Given the description of an element on the screen output the (x, y) to click on. 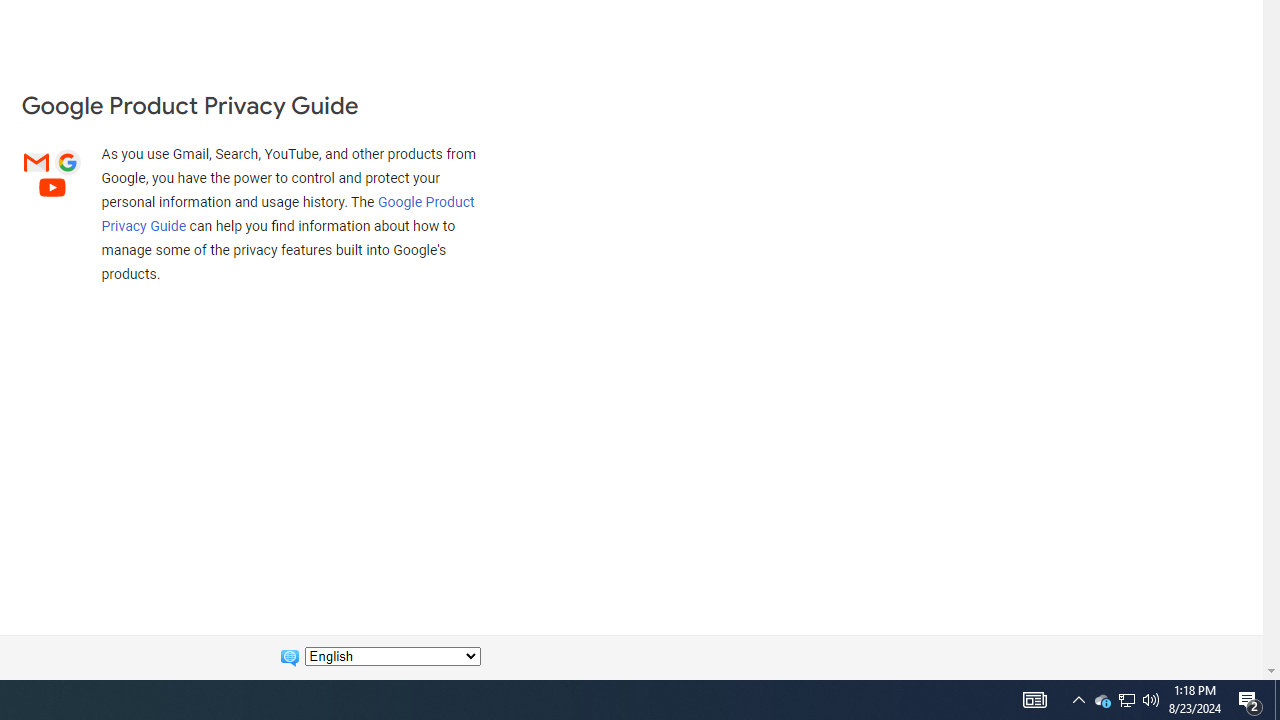
Change language: (392, 656)
Google Product Privacy Guide (287, 213)
